Given the description of an element on the screen output the (x, y) to click on. 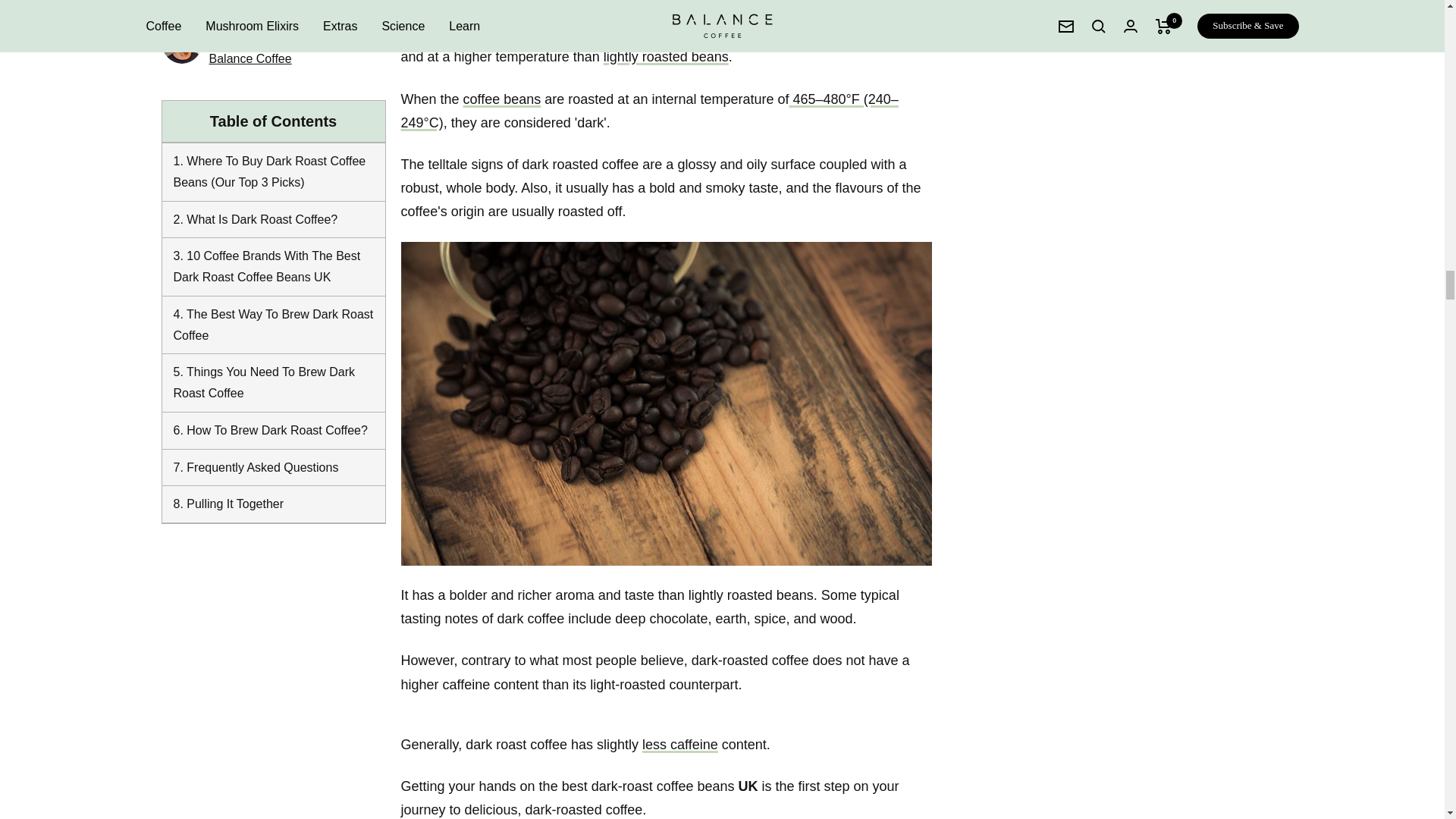
What is light roast coffee? (666, 56)
